Given the description of an element on the screen output the (x, y) to click on. 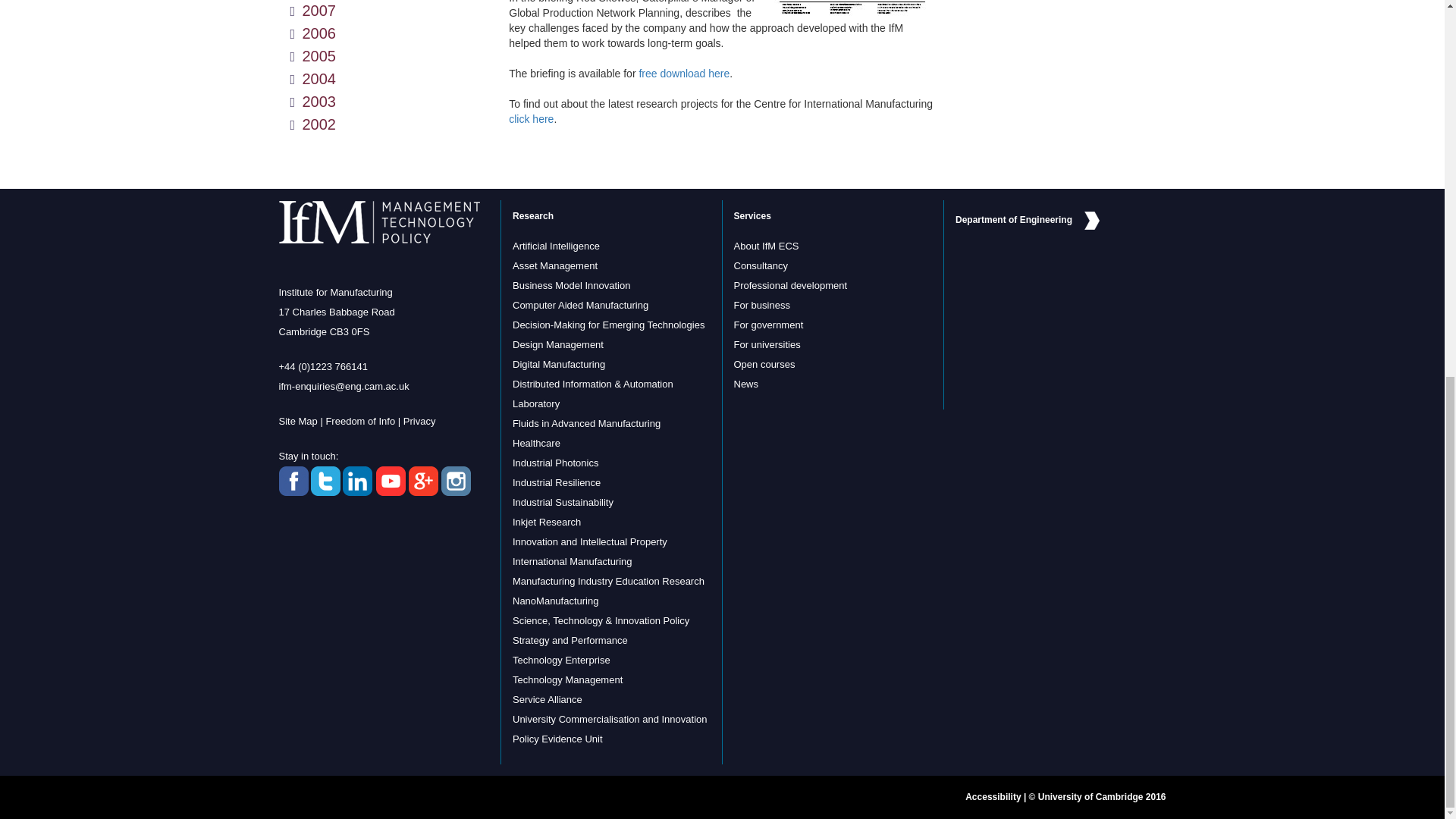
Industrial Photonics (555, 462)
Healthcare (536, 442)
Computer Aided Manufacturing (579, 305)
Supply Chain AI Lab (555, 245)
Asset Management (554, 265)
Design Management (558, 344)
Fluids in Advanced Manufacturing (586, 423)
Decision-Making for Emerging Technologies (608, 324)
Distributed Information and Automation Laboratory (592, 393)
Industrial Resilience Research Group (555, 482)
Digital Manufacturing (558, 364)
Industrial Sustainability (562, 501)
